Given the description of an element on the screen output the (x, y) to click on. 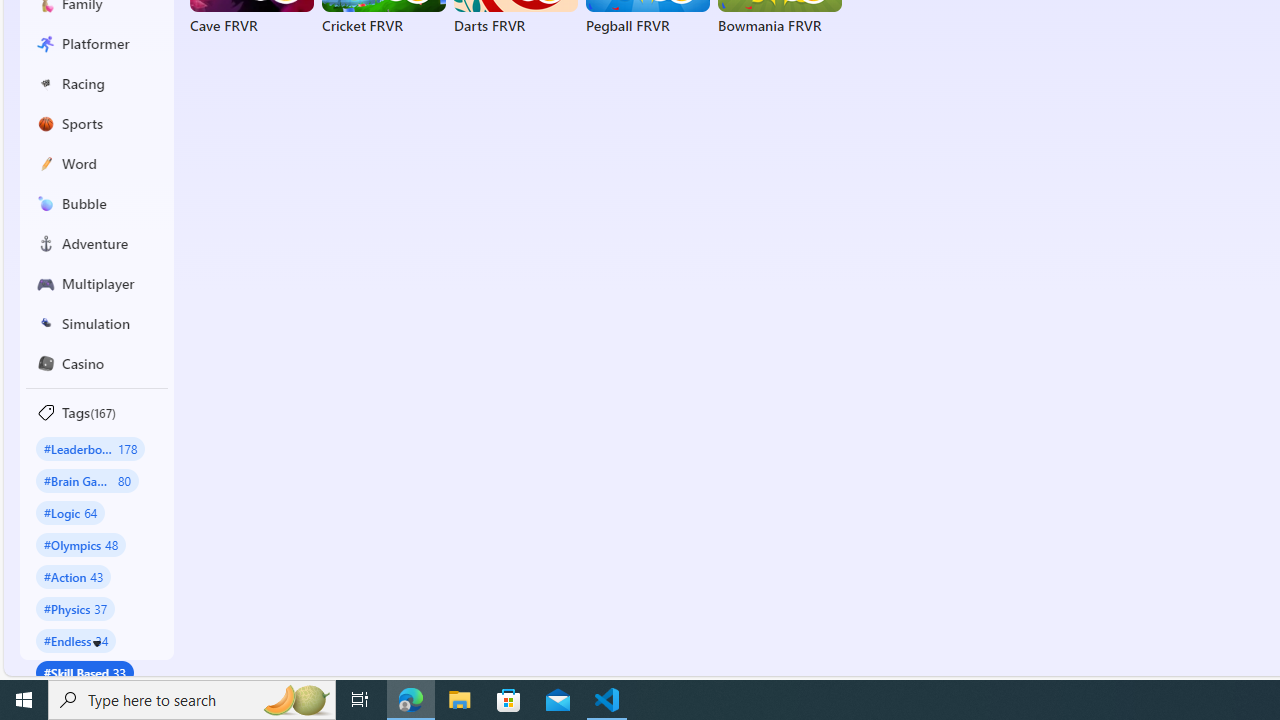
#Leaderboard 178 (90, 448)
#Brain Games 80 (87, 480)
#Skill Based 33 (84, 672)
#Action 43 (73, 575)
#Logic 64 (70, 511)
#Physics 37 (75, 608)
Class: arrow-bottom button-default-style-remove (97, 643)
#Endless 34 (75, 640)
#Olympics 48 (80, 544)
